Given the description of an element on the screen output the (x, y) to click on. 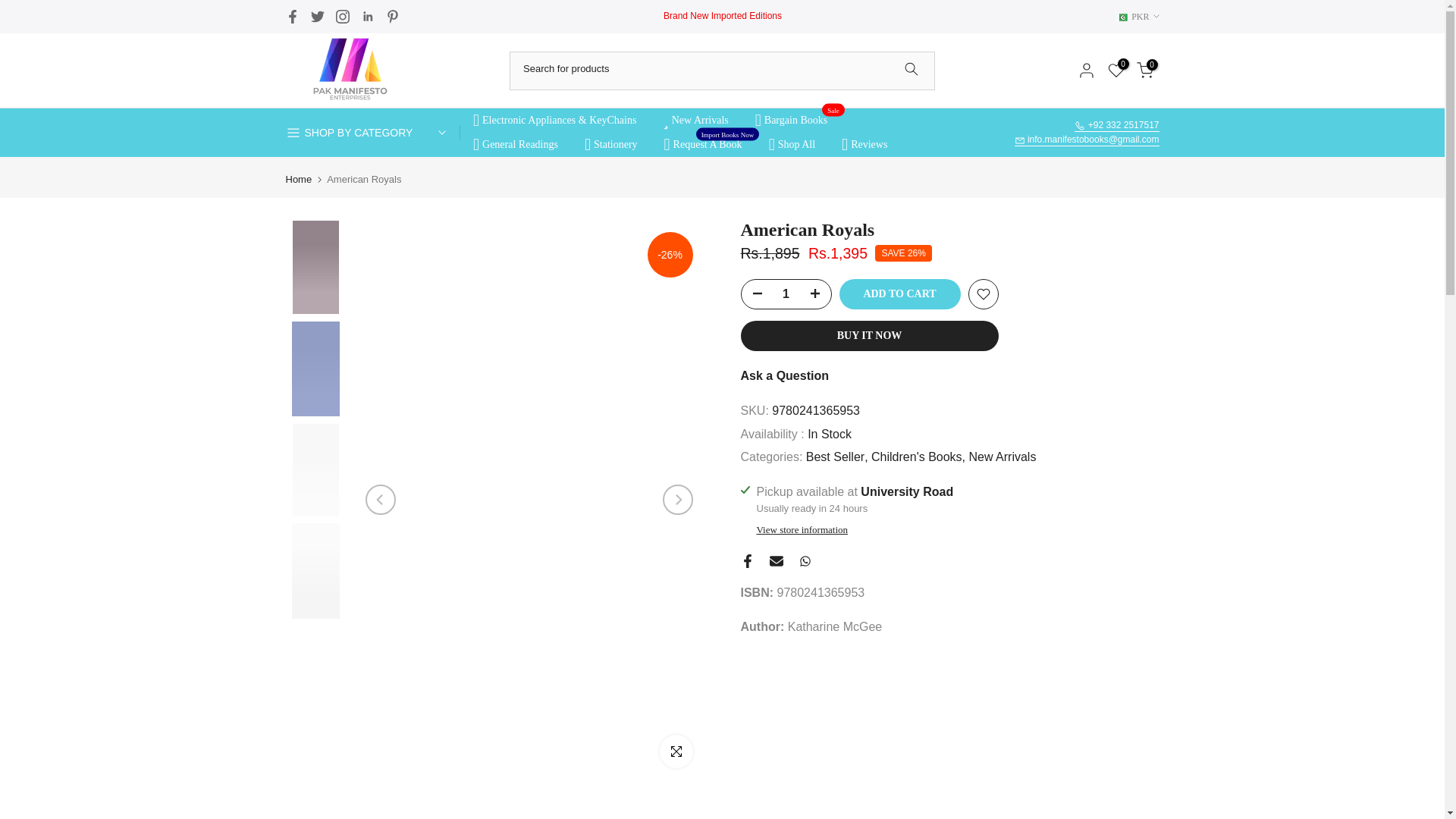
0 (1115, 70)
1 (786, 294)
Share on Email (775, 561)
Skip to content (10, 7)
Share on Facebook (746, 561)
PKR (1137, 16)
0 (1144, 70)
Share on WhatsApp (803, 561)
